Given the description of an element on the screen output the (x, y) to click on. 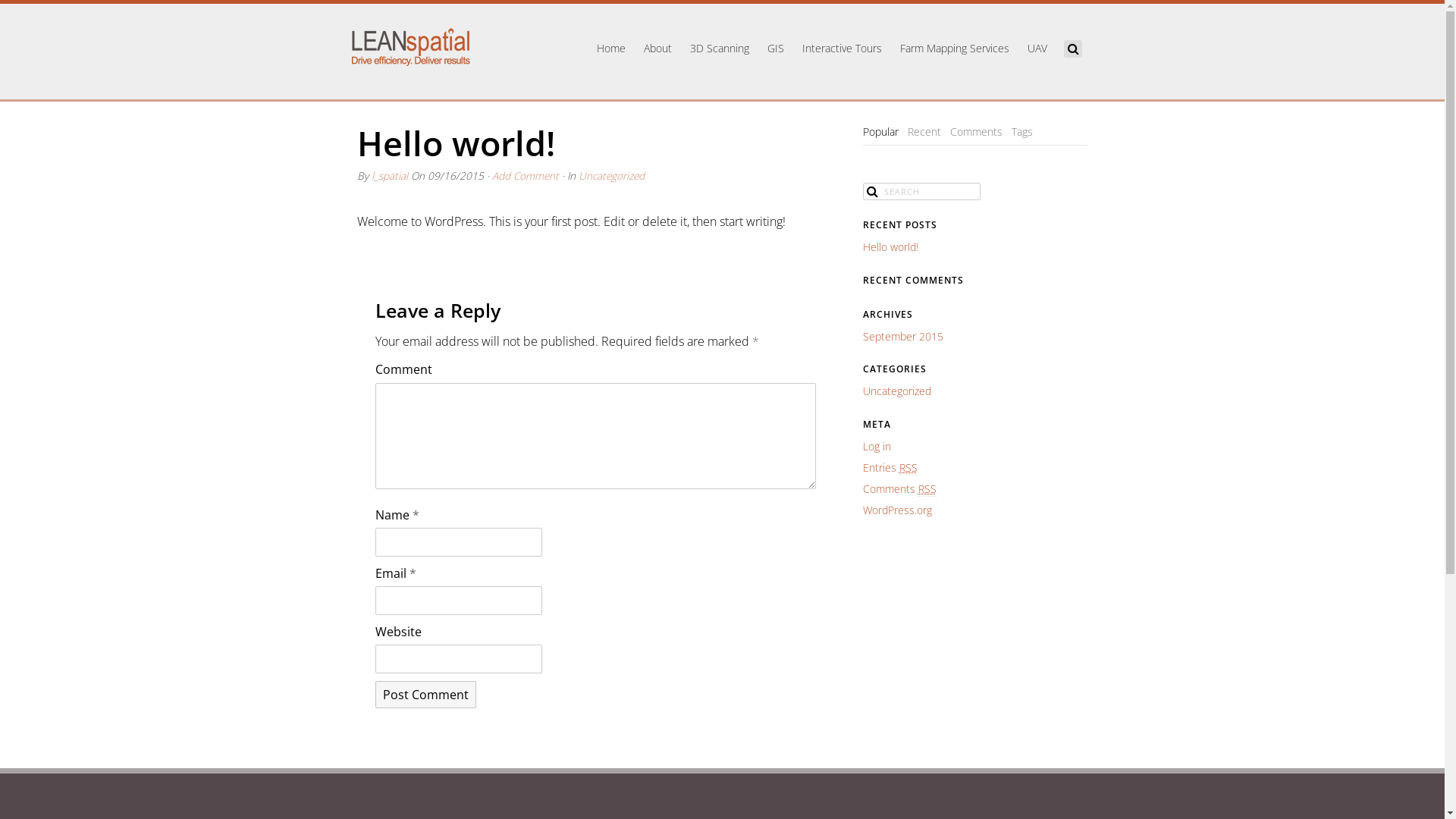
Uncategorized Element type: text (610, 175)
September 2015 Element type: text (902, 336)
Interactive Tours Element type: text (842, 48)
Popular Element type: text (880, 131)
Recent Element type: text (924, 131)
LEANspatial - Drive efficiency. Deliver results Element type: hover (410, 46)
Tags Element type: text (1021, 131)
l_spatial Element type: text (389, 175)
Add Comment Element type: text (524, 175)
3D Scanning Element type: text (719, 48)
Home Element type: text (610, 48)
WordPress.org Element type: text (896, 509)
Hello world! Element type: text (890, 246)
Farm Mapping Services Element type: text (954, 48)
Post Comment Element type: text (425, 694)
GIS Element type: text (775, 48)
About Element type: text (657, 48)
Log in Element type: text (876, 446)
Entries RSS Element type: text (889, 467)
Comments RSS Element type: text (899, 488)
UAV Element type: text (1037, 48)
Uncategorized Element type: text (896, 390)
Comments Element type: text (976, 131)
